Given the description of an element on the screen output the (x, y) to click on. 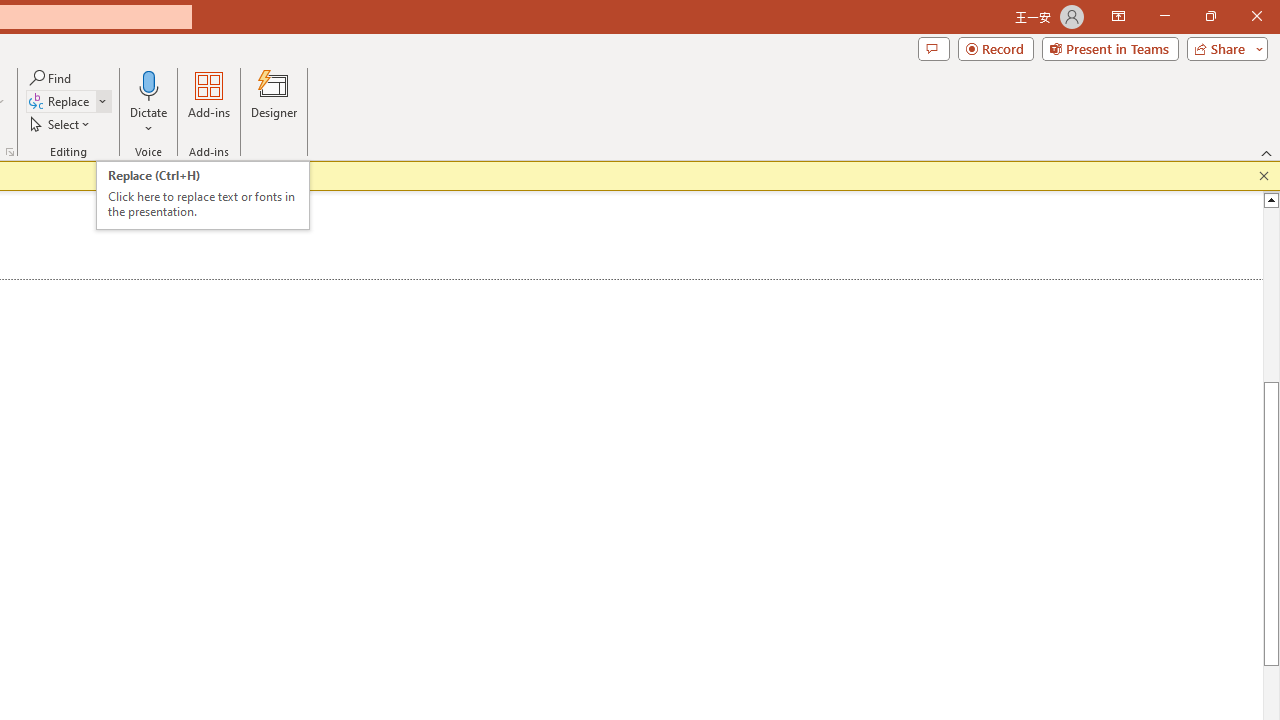
Close this message (1263, 176)
